Given the description of an element on the screen output the (x, y) to click on. 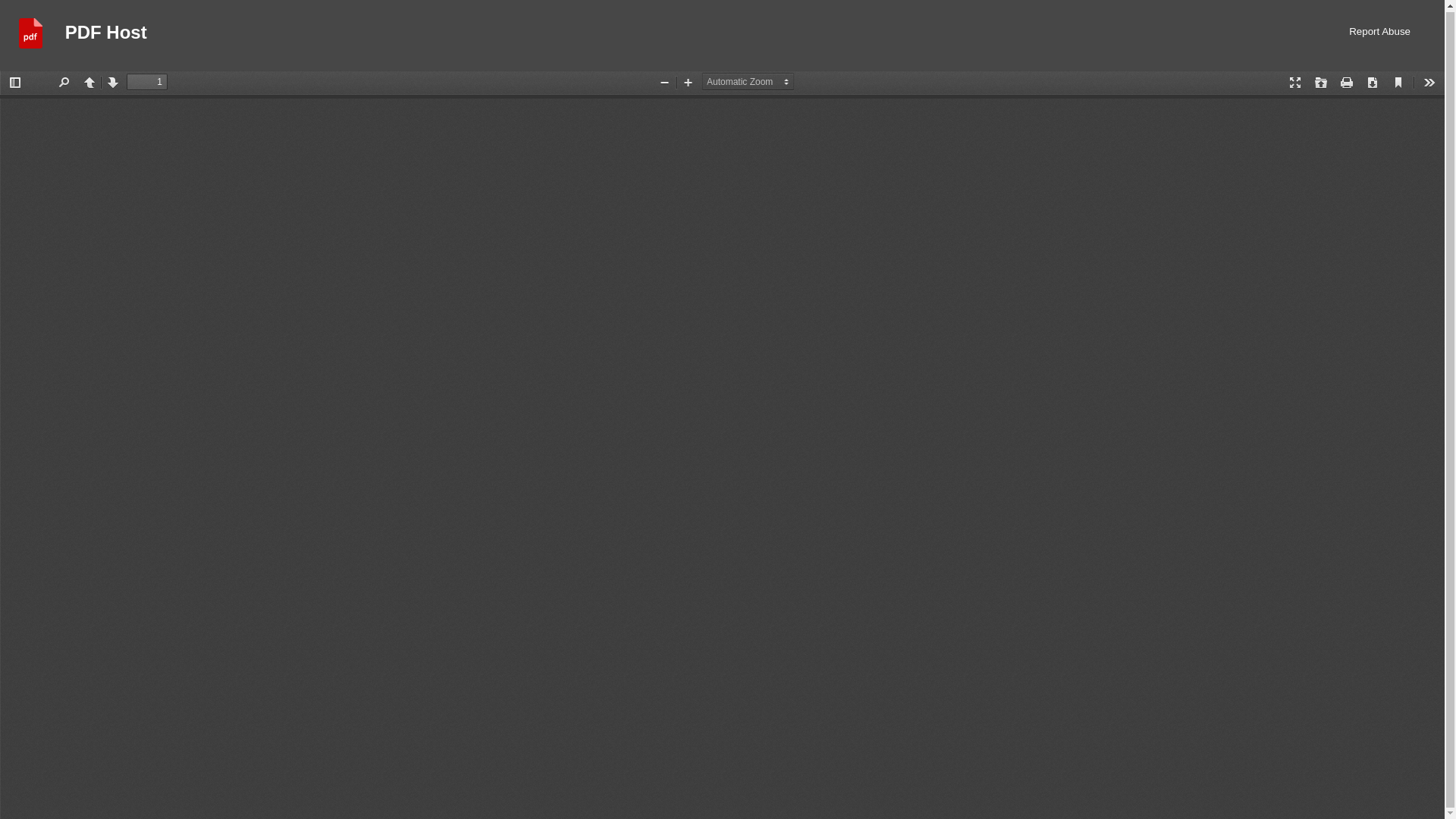
Find in Document (62, 81)
1 (146, 81)
Report Abuse (1379, 34)
PDF Host (106, 34)
Toggle Sidebar (14, 81)
